Given the description of an element on the screen output the (x, y) to click on. 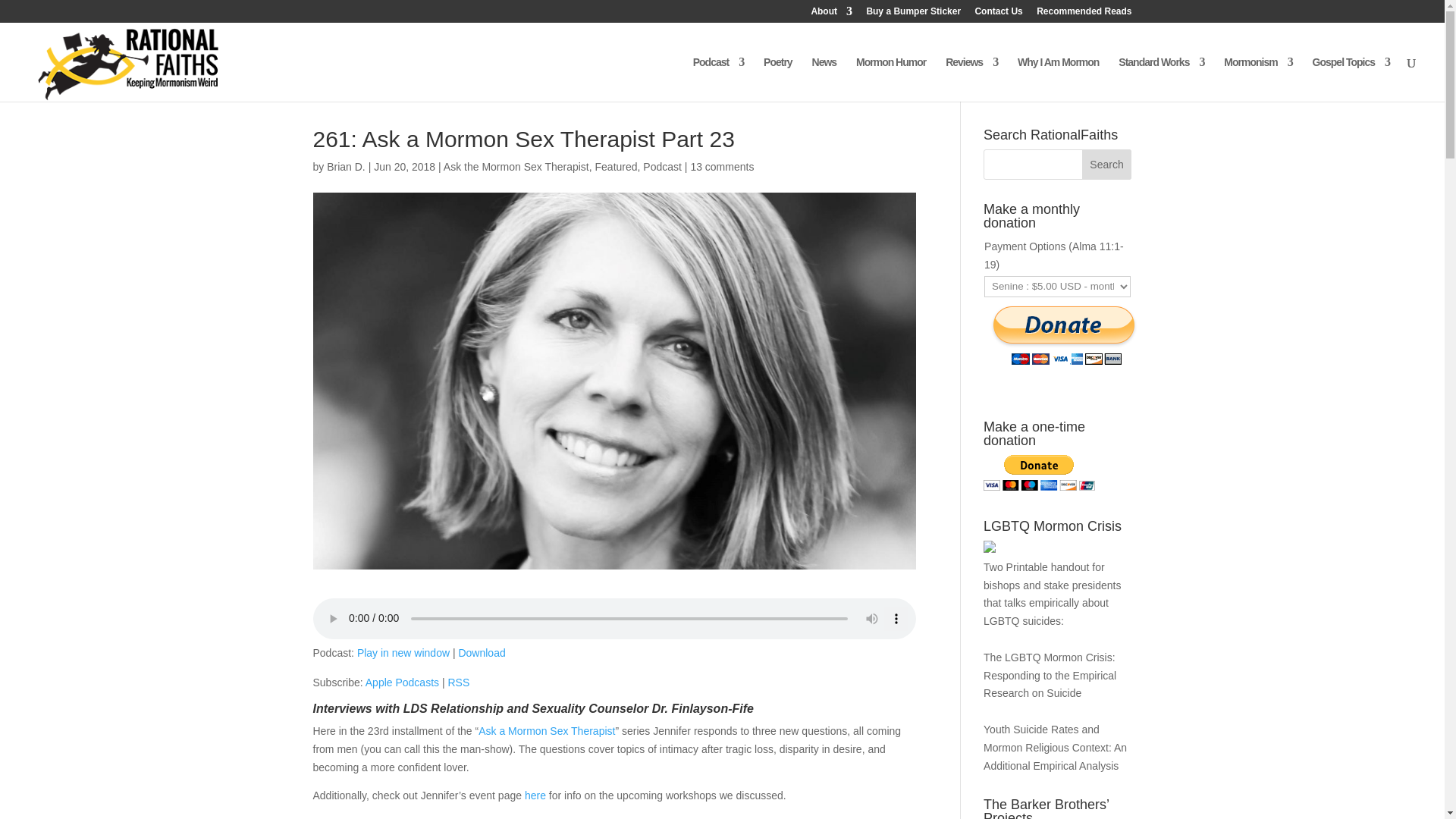
Subscribe via RSS (457, 682)
Buy a Bumper Sticker (913, 14)
Recommended Reads (1083, 14)
Search (1106, 164)
Contact Us (998, 14)
Standard Works (1161, 78)
Mormon Humor (891, 78)
Podcast (718, 78)
Why I Am Mormon (1058, 78)
Download (481, 653)
